Given the description of an element on the screen output the (x, y) to click on. 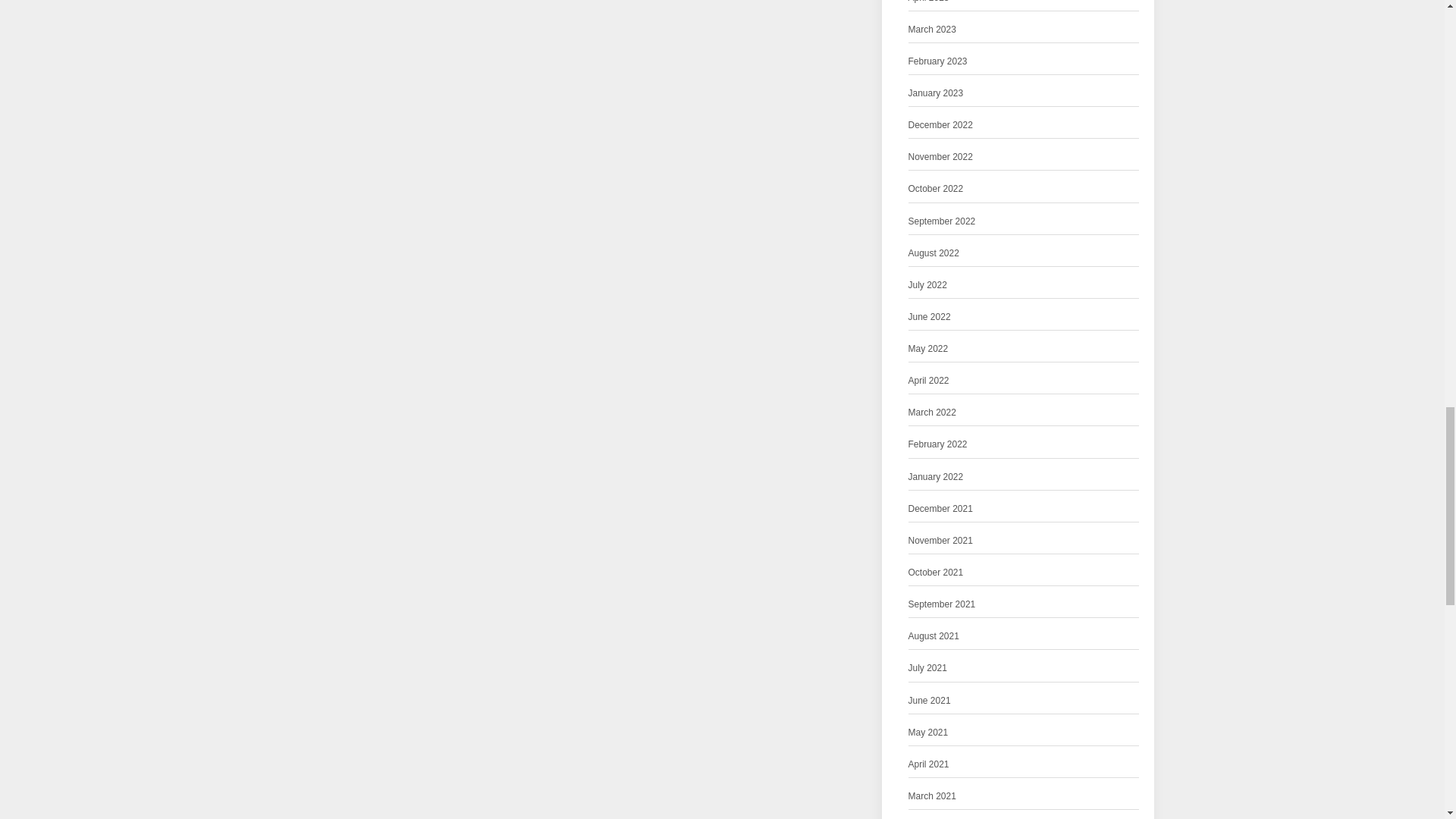
March 2023 (932, 29)
April 2023 (928, 2)
February 2023 (938, 61)
